Given the description of an element on the screen output the (x, y) to click on. 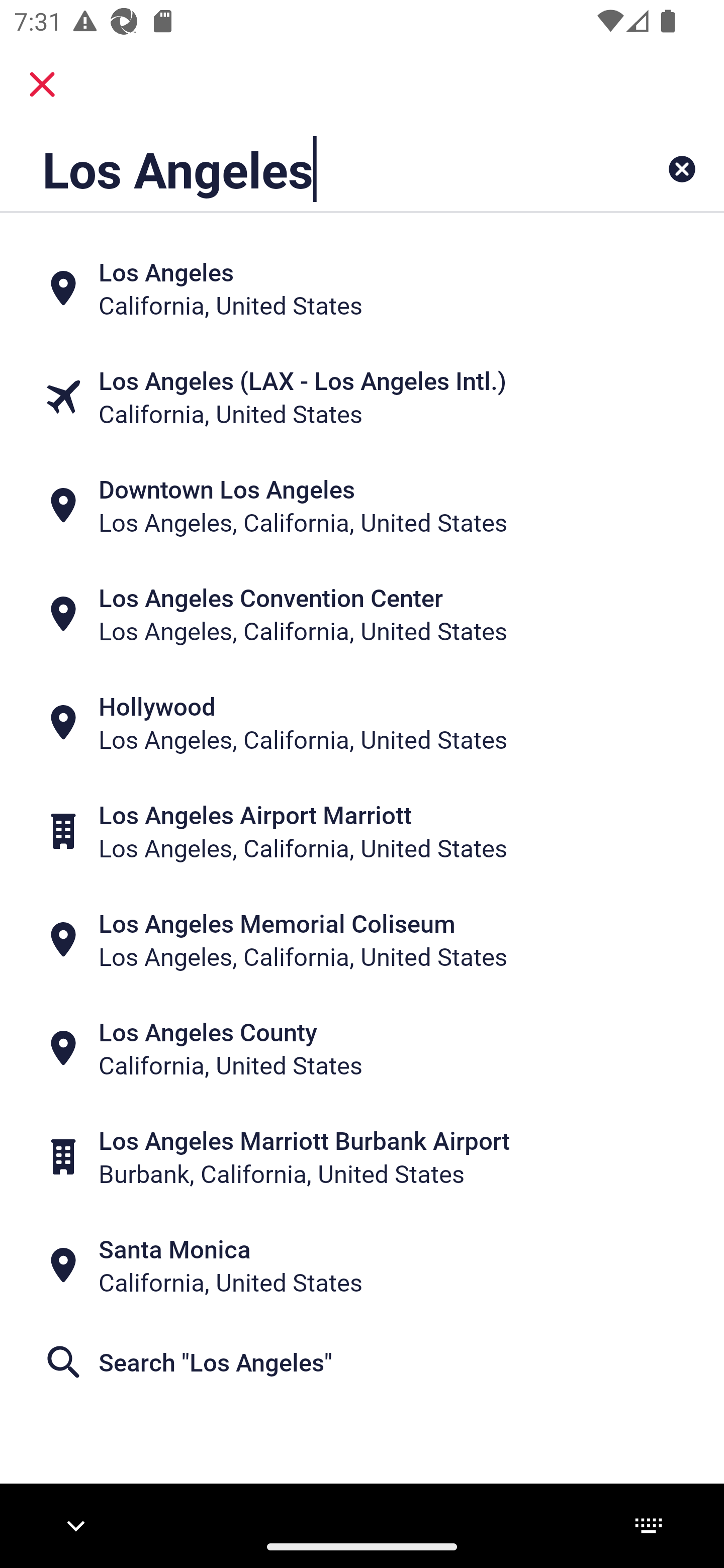
close. (42, 84)
Clear (681, 169)
Los Angeles (298, 169)
Los Angeles California, United States (362, 288)
Hollywood Los Angeles, California, United States (362, 722)
Los Angeles County California, United States (362, 1048)
Santa Monica California, United States (362, 1265)
Search "Los Angeles" (362, 1362)
